Given the description of an element on the screen output the (x, y) to click on. 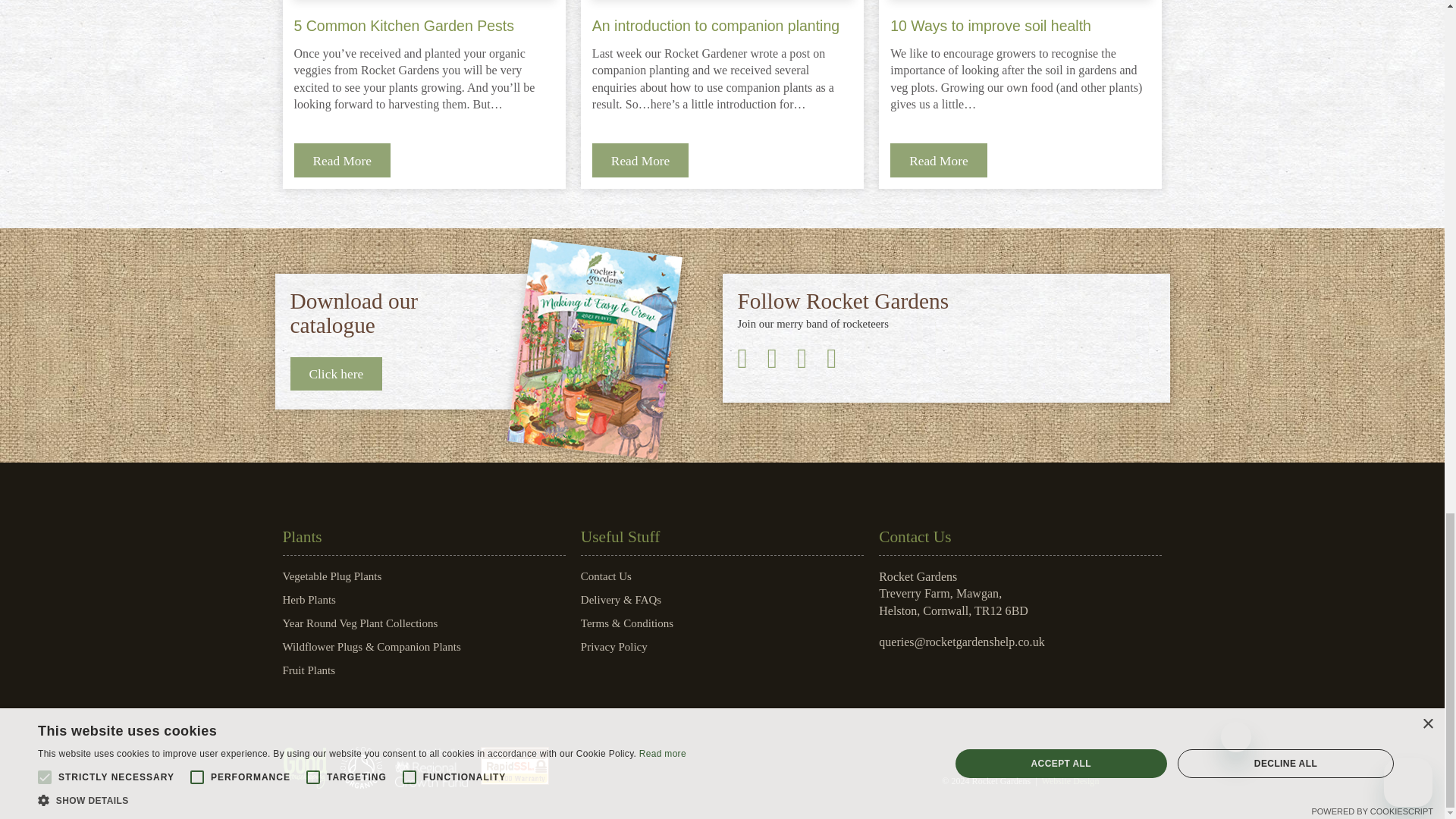
Website design by Ryan Mcfarlane (1070, 780)
